Given the description of an element on the screen output the (x, y) to click on. 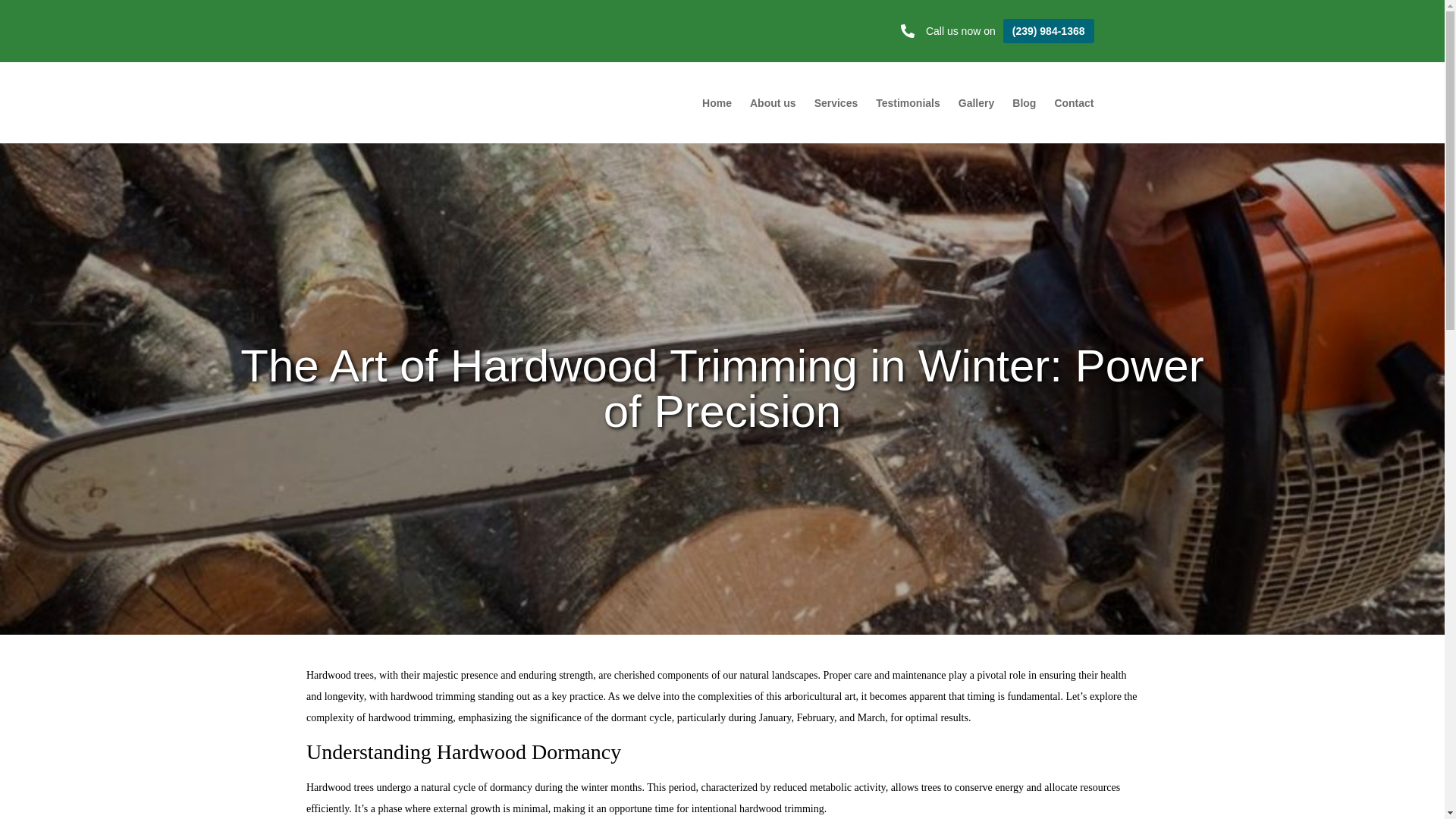
About us (773, 102)
Services (836, 102)
Contact (1073, 102)
Testimonials (907, 102)
Blog (1024, 102)
Home (717, 102)
Gallery (976, 102)
